Given the description of an element on the screen output the (x, y) to click on. 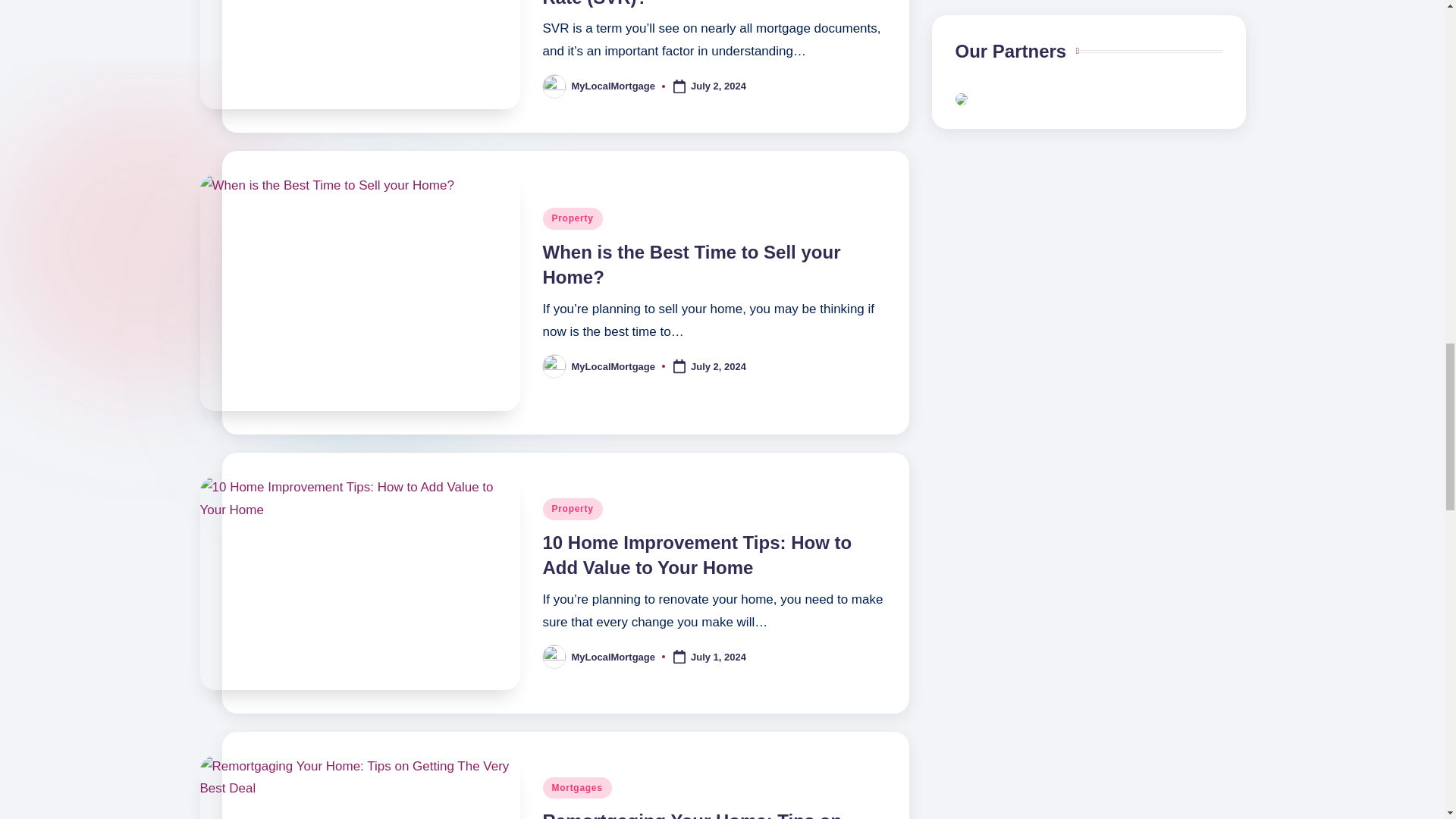
View all posts by MyLocalMortgage (614, 366)
View all posts by MyLocalMortgage (614, 85)
When is the Best Time to Sell your Home? (692, 264)
10 Home Improvement Tips: How to Add Value to Your Home (697, 555)
View all posts by MyLocalMortgage (614, 656)
